Given the description of an element on the screen output the (x, y) to click on. 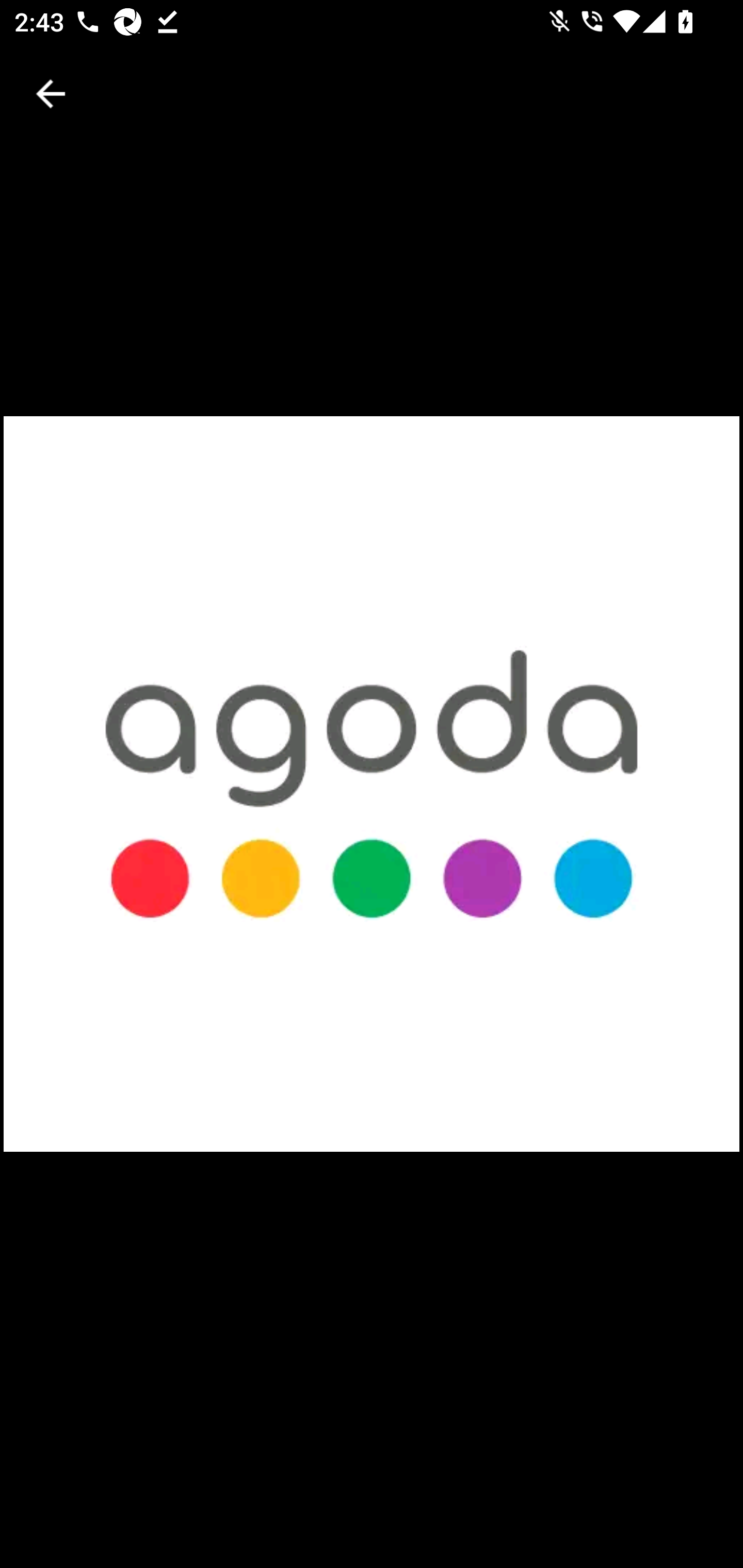
Back (50, 93)
